Given the description of an element on the screen output the (x, y) to click on. 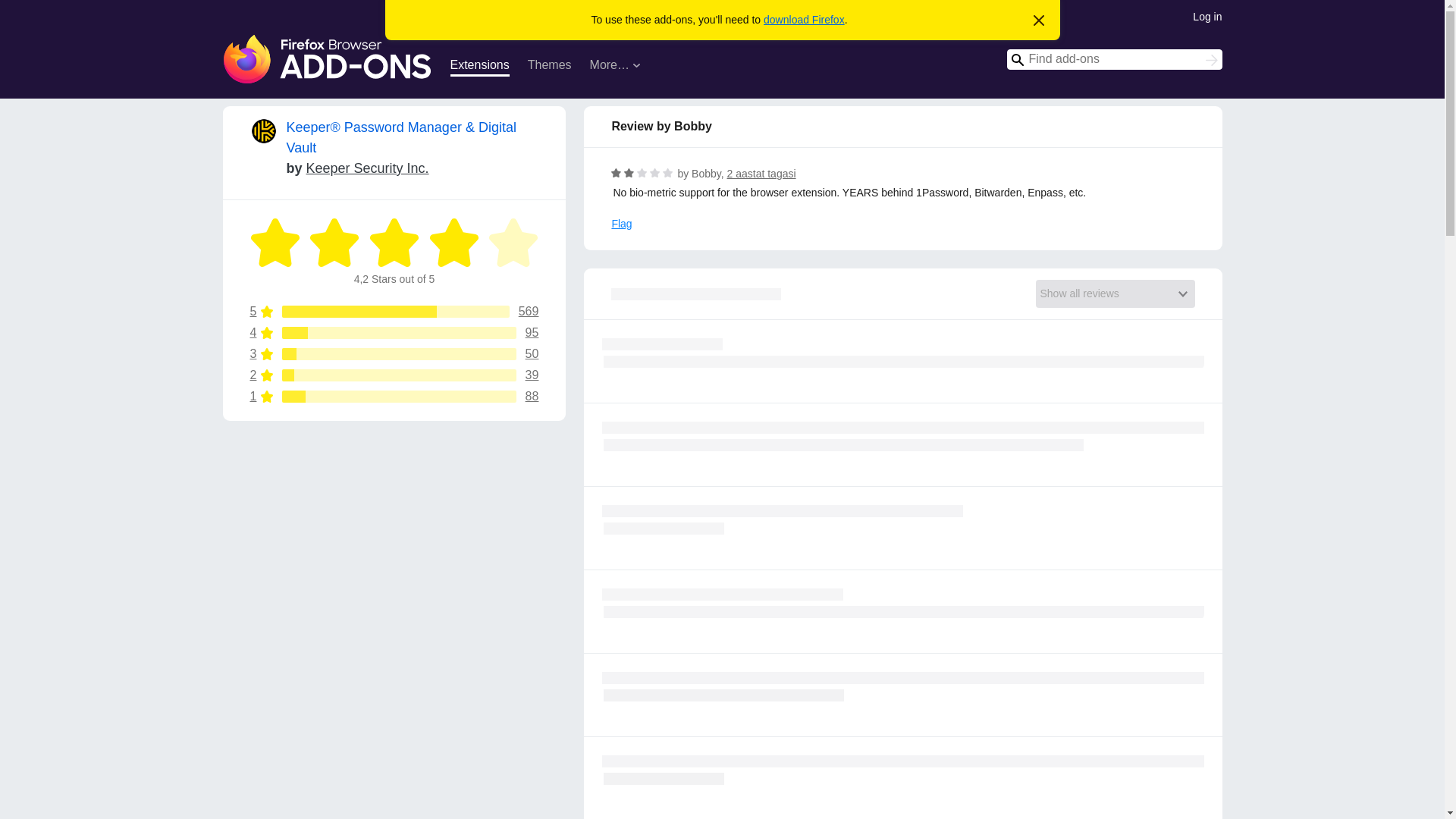
Rated 2 out of 5 (654, 172)
Rated 2 out of 5 (641, 172)
Rated 2 out of 5 (641, 172)
Rated 4,2 out of 5 (394, 332)
Read all 88 one-star reviews (512, 242)
Dismiss this notice (394, 396)
download Firefox (1038, 21)
Rated 4,2 out of 5 (803, 19)
Firefox Browser Add-ons (394, 242)
Flag (327, 59)
Themes (621, 223)
Rated 2 out of 5 (549, 66)
Rated 2 out of 5 (394, 354)
